Given the description of an element on the screen output the (x, y) to click on. 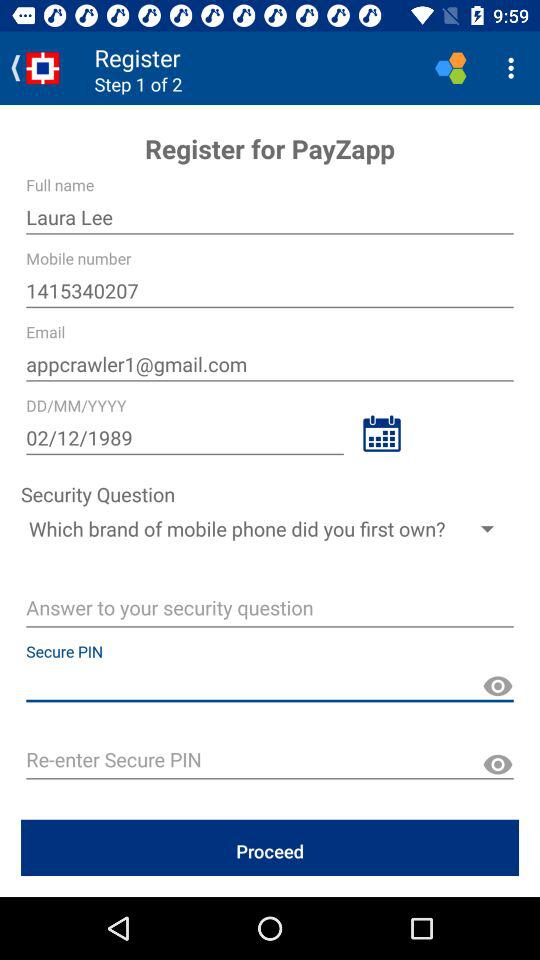
show password (498, 686)
